Given the description of an element on the screen output the (x, y) to click on. 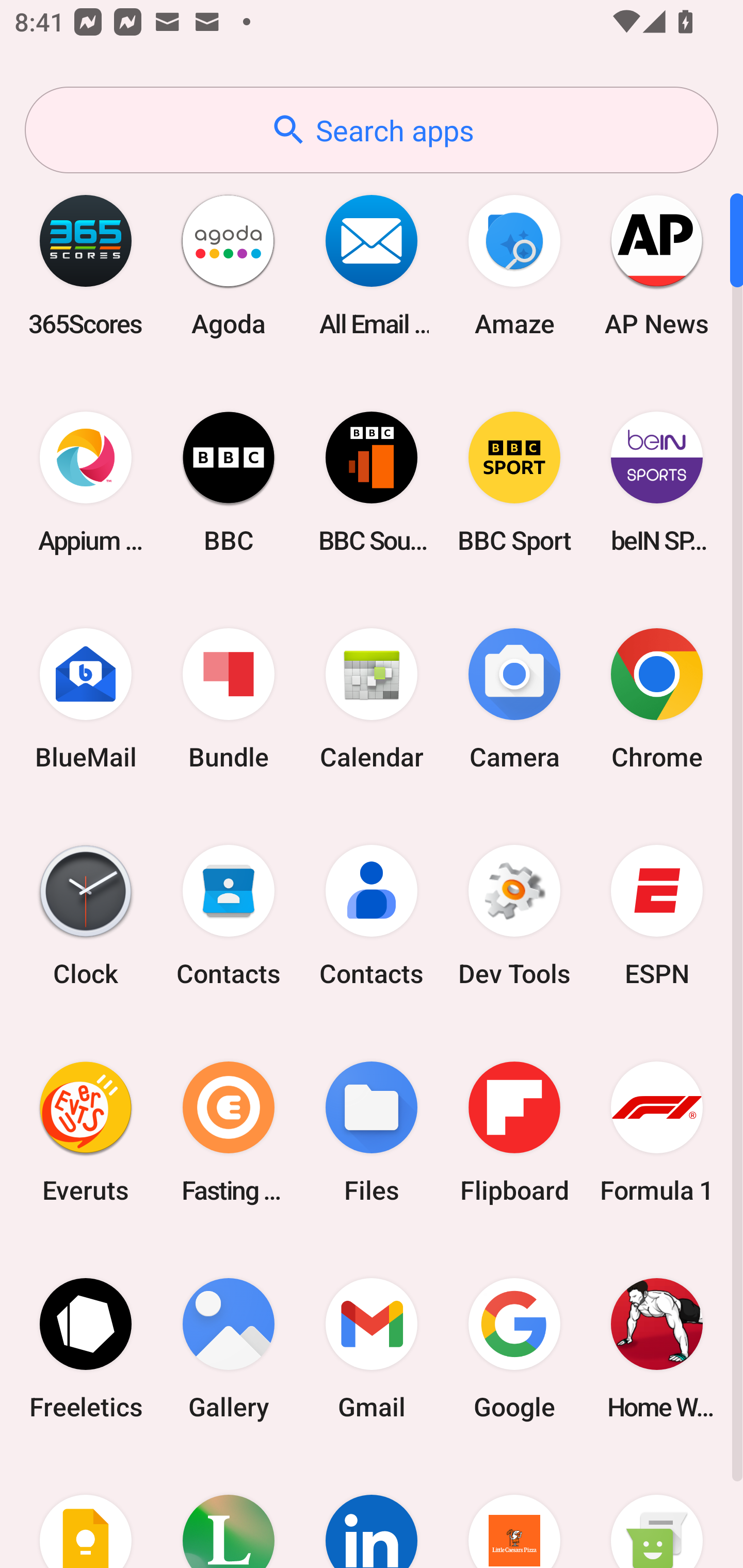
  Search apps (371, 130)
365Scores (85, 264)
Agoda (228, 264)
All Email Connect (371, 264)
Amaze (514, 264)
AP News (656, 264)
Appium Settings (85, 482)
BBC (228, 482)
BBC Sounds (371, 482)
BBC Sport (514, 482)
beIN SPORTS (656, 482)
BlueMail (85, 699)
Bundle (228, 699)
Calendar (371, 699)
Camera (514, 699)
Chrome (656, 699)
Clock (85, 915)
Contacts (228, 915)
Contacts (371, 915)
Dev Tools (514, 915)
ESPN (656, 915)
Everuts (85, 1131)
Fasting Coach (228, 1131)
Files (371, 1131)
Flipboard (514, 1131)
Formula 1 (656, 1131)
Freeletics (85, 1348)
Gallery (228, 1348)
Gmail (371, 1348)
Google (514, 1348)
Home Workout (656, 1348)
Keep Notes (85, 1512)
Lifesum (228, 1512)
LinkedIn (371, 1512)
Little Caesars Pizza (514, 1512)
Messaging (656, 1512)
